Given the description of an element on the screen output the (x, y) to click on. 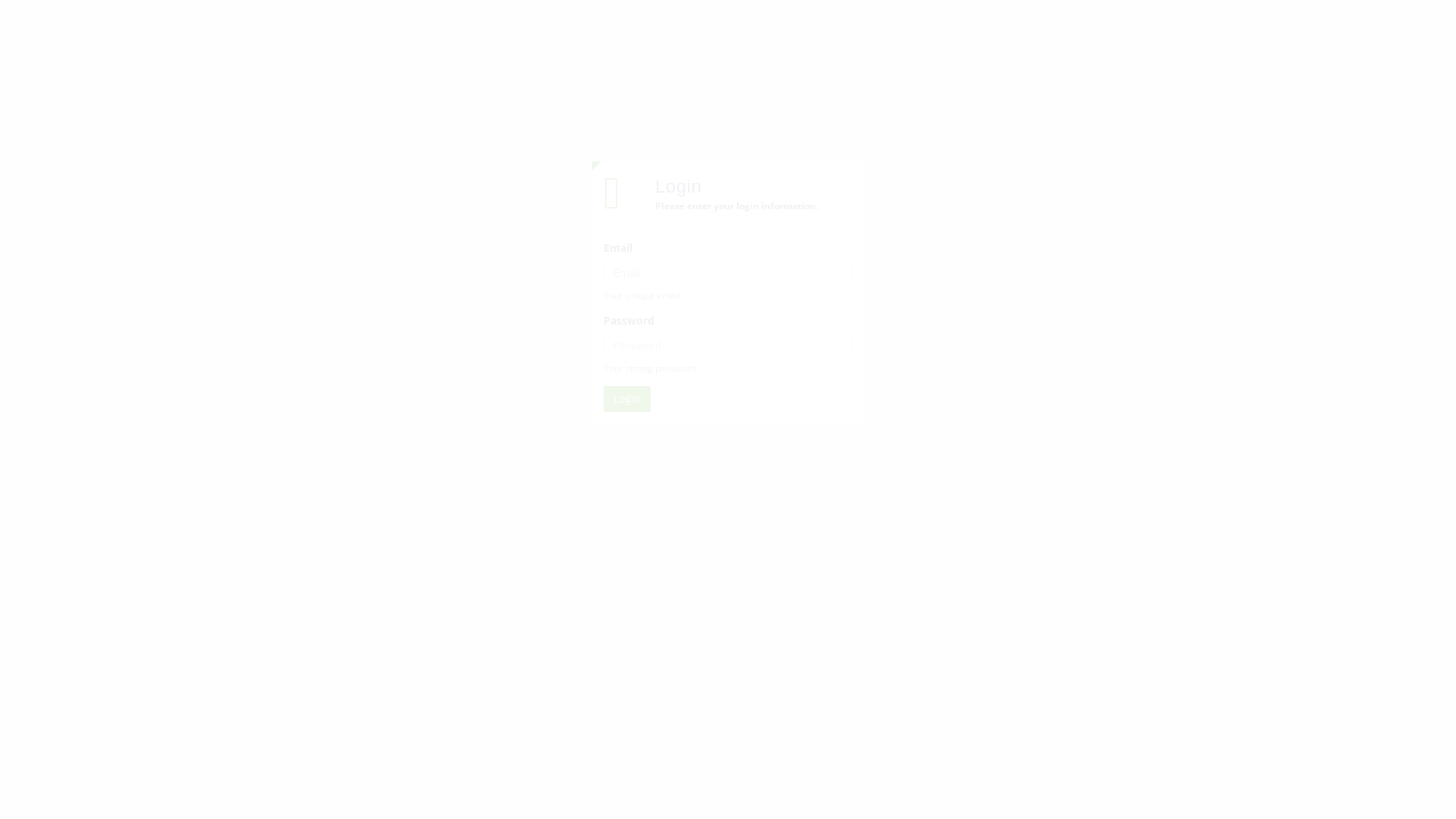
Email Element type: hover (727, 272)
Please enter your password Element type: hover (727, 344)
